Given the description of an element on the screen output the (x, y) to click on. 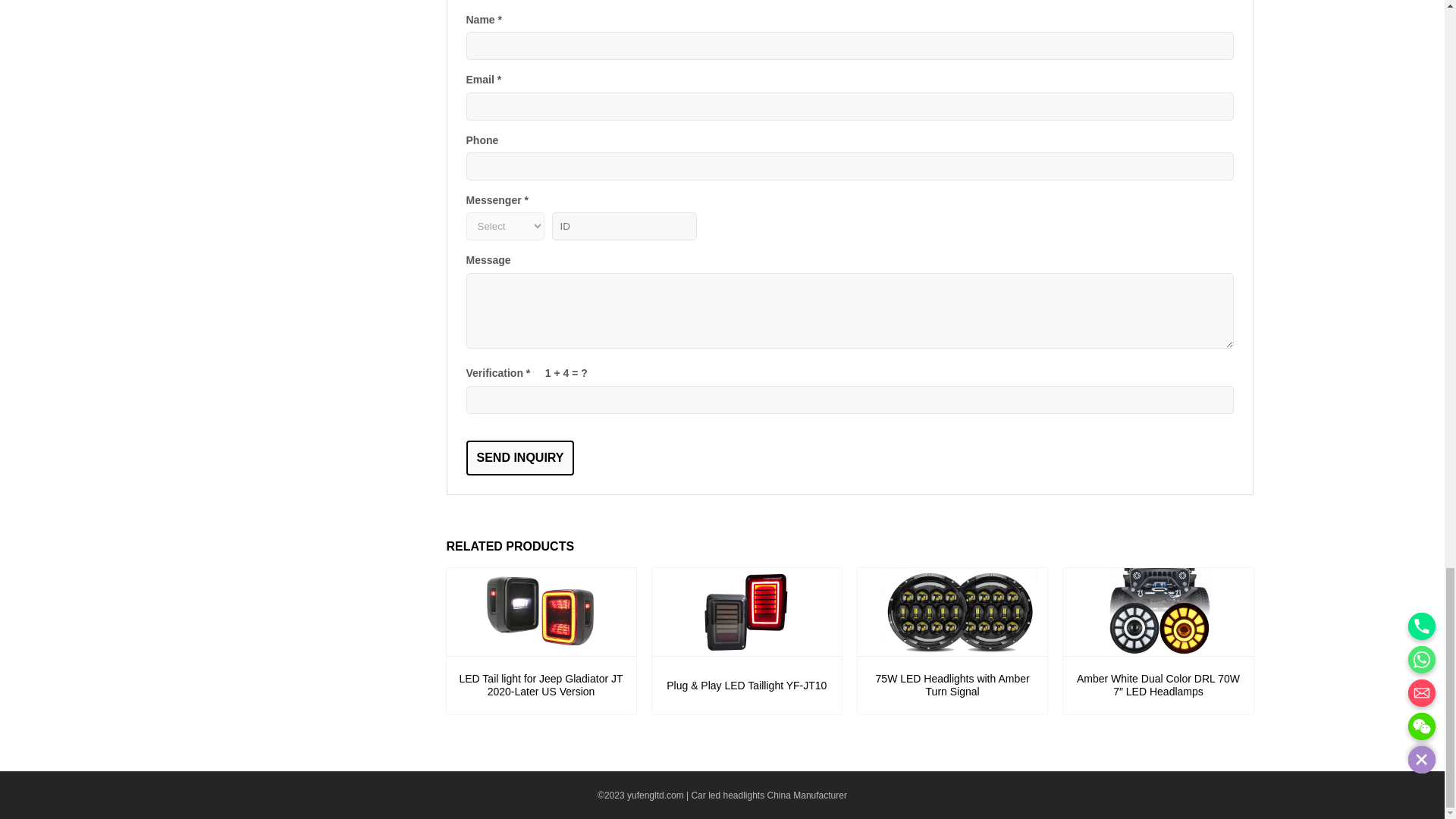
LED Tail light for Jeep Gladiator JT 2020-Later US Version (539, 685)
75W LED Headlights with Amber Turn Signal (951, 612)
75W LED Headlights with Amber Turn Signal (951, 685)
LED Tail light for Jeep Gladiator JT 2020-Later US Version (539, 612)
Send Inquiry (519, 457)
